Given the description of an element on the screen output the (x, y) to click on. 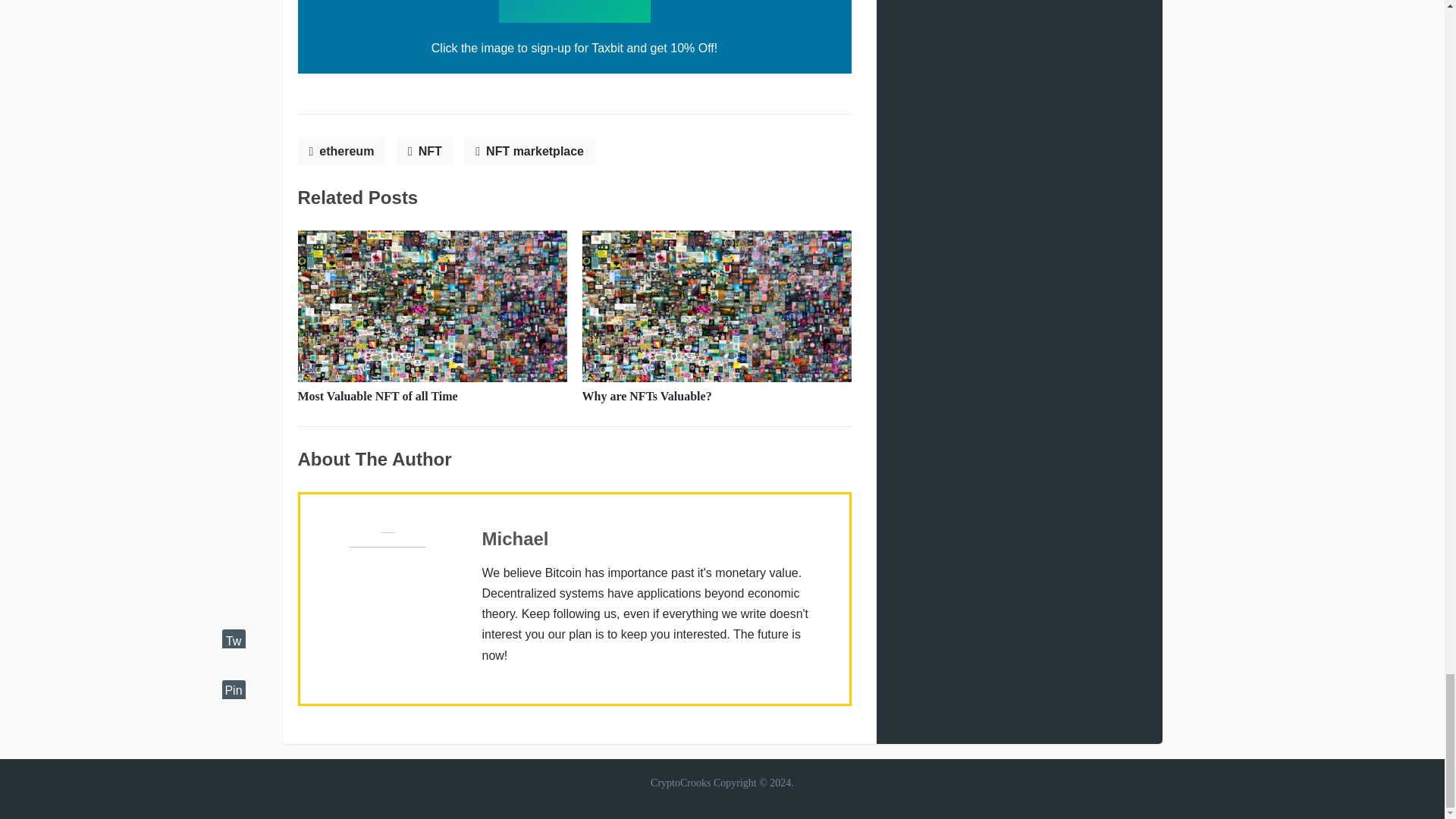
Most Valuable NFT of all Time (377, 395)
 Crypto blog on news, tutorials and investments (680, 782)
Why are NFTs Valuable? (646, 395)
